Given the description of an element on the screen output the (x, y) to click on. 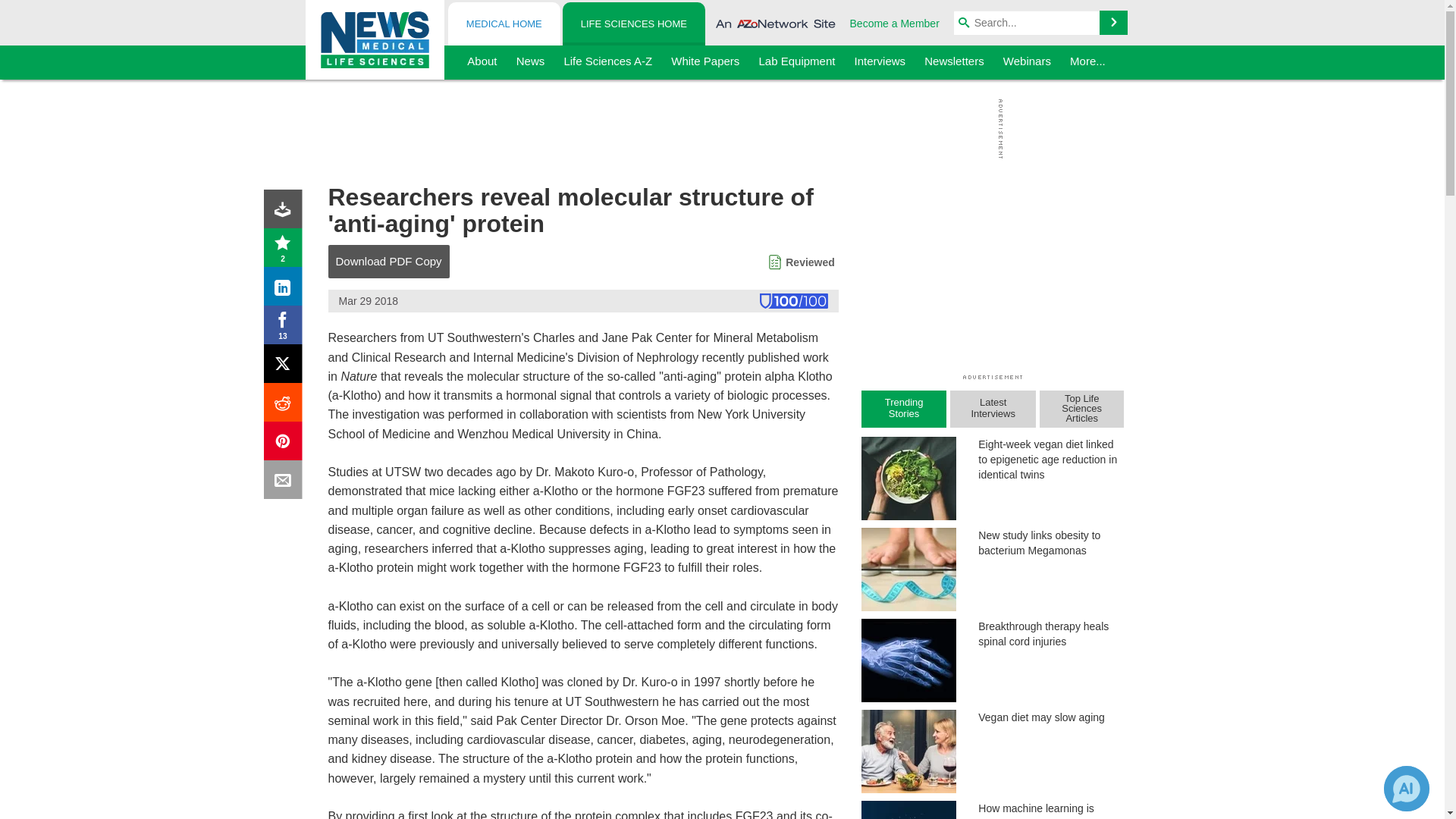
Become a Member (894, 22)
MEDICAL HOME (504, 23)
Rating (285, 250)
Download PDF copy (285, 212)
LinkedIn (285, 289)
Reddit (285, 405)
X (285, 366)
Email (285, 483)
LIFE SCIENCES HOME (633, 23)
